Given the description of an element on the screen output the (x, y) to click on. 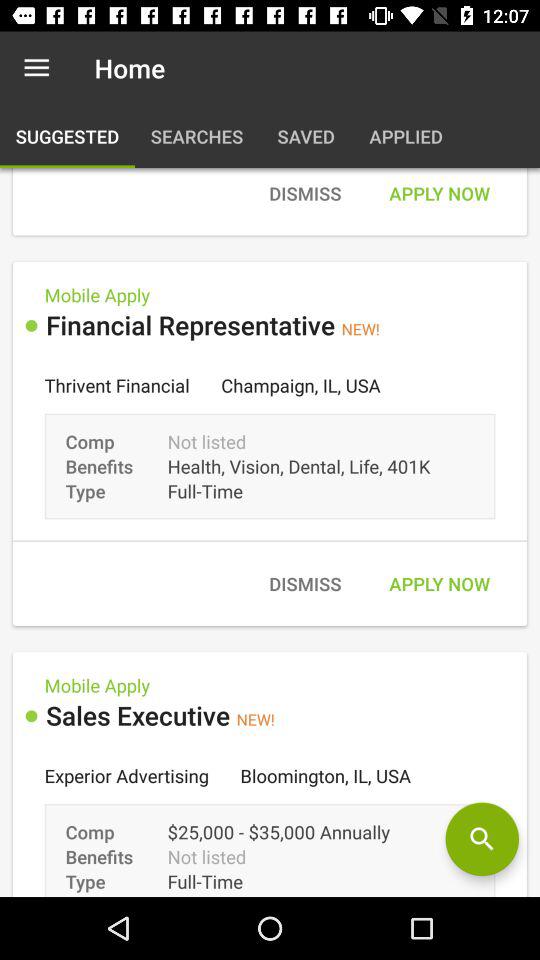
turn on icon below the apply now icon (482, 839)
